Given the description of an element on the screen output the (x, y) to click on. 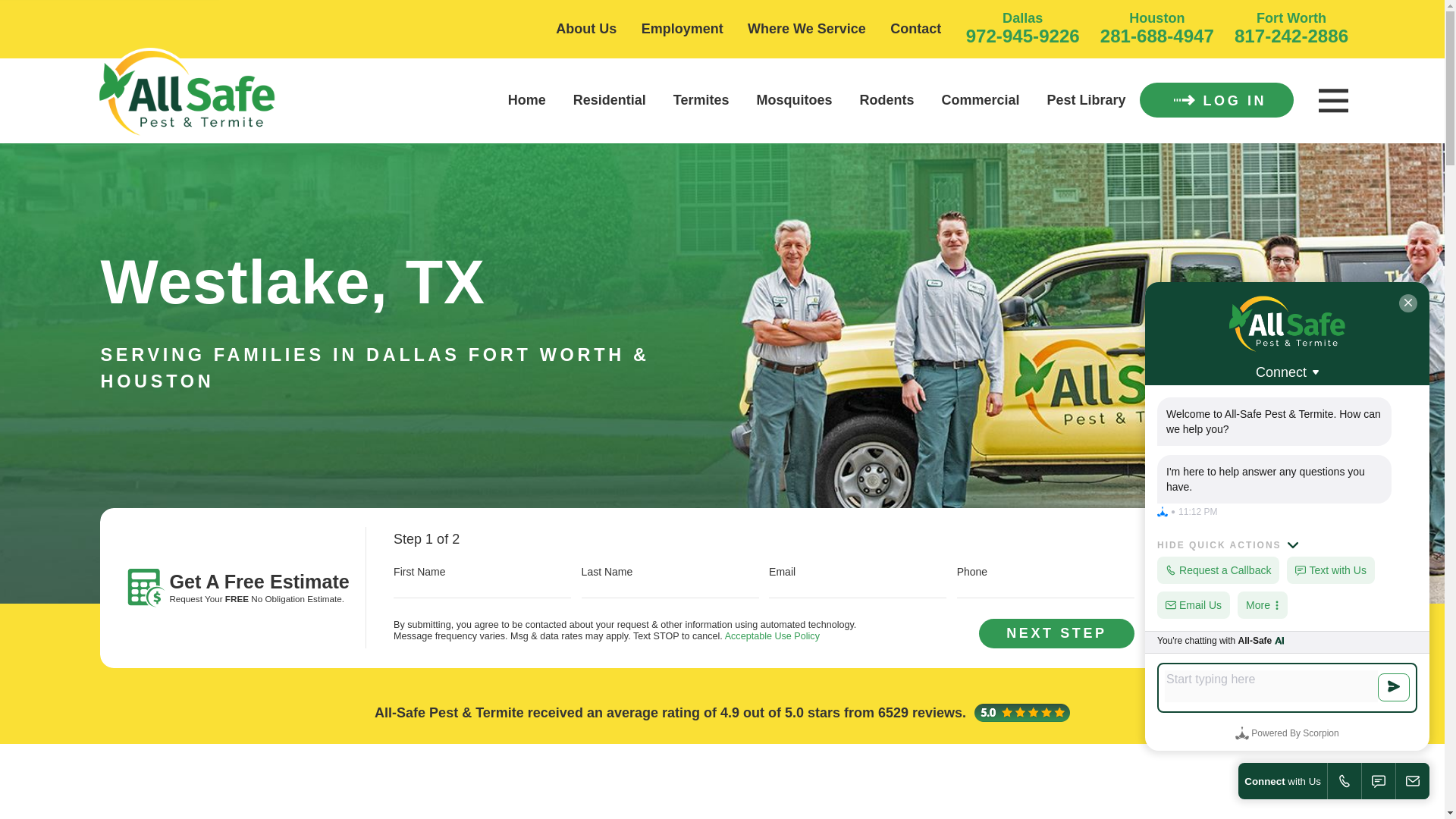
Main Menu (1332, 100)
Mosquitoes (794, 99)
281-688-4947 (1157, 35)
Employment (682, 28)
Commercial (981, 99)
Termites (700, 99)
Pest Library (1085, 99)
View the Next Panel (1056, 634)
972-945-9226 (1023, 35)
About Us (585, 28)
Residential (609, 99)
Home (187, 93)
817-242-2886 (1291, 35)
Where We Service (807, 28)
Contact (914, 28)
